Given the description of an element on the screen output the (x, y) to click on. 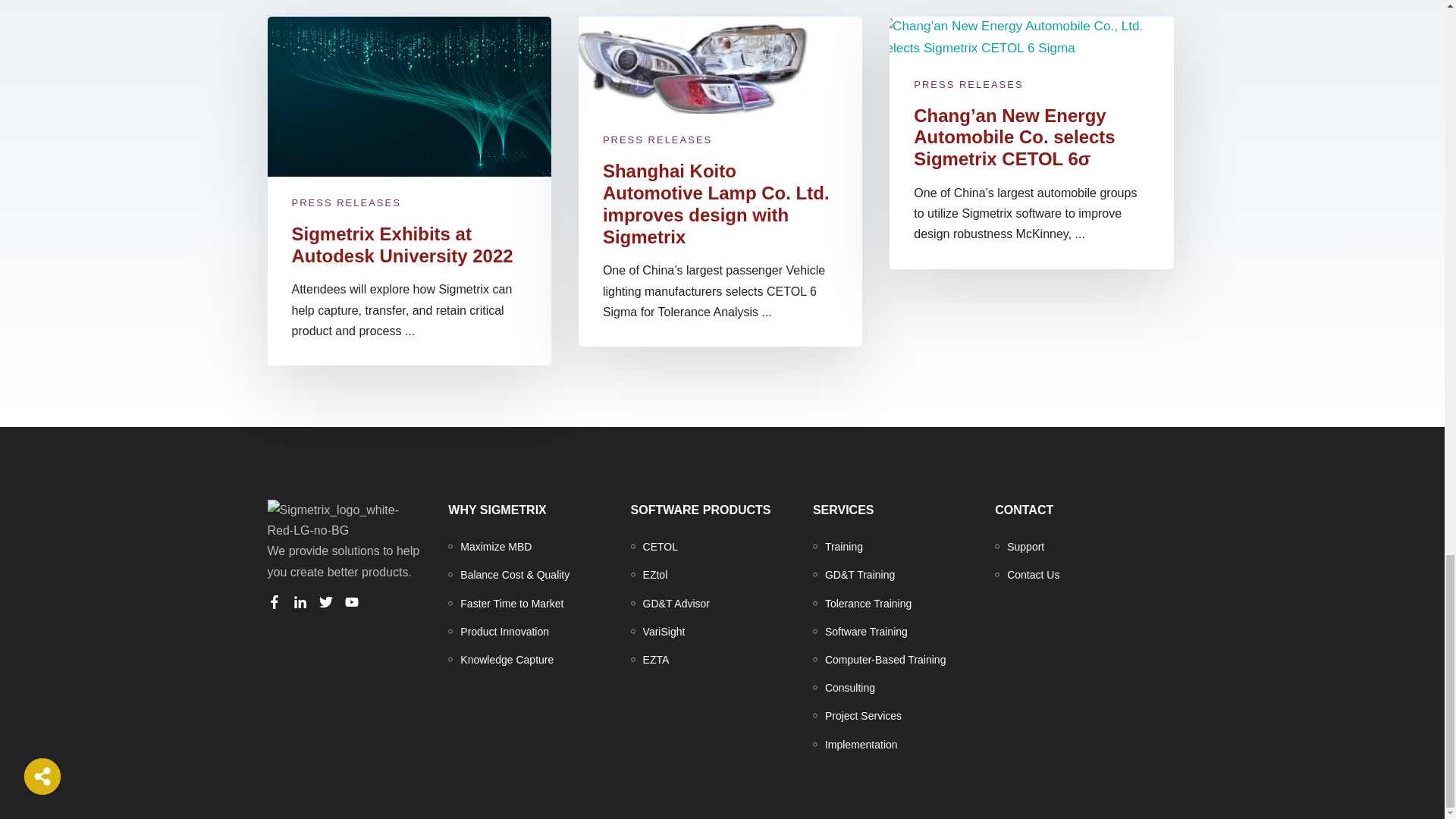
Follow us on Instagram (350, 602)
Follow us on LinkedIn (298, 602)
Follow us on Twitter (324, 602)
Follow us on Facebook (273, 602)
